Given the description of an element on the screen output the (x, y) to click on. 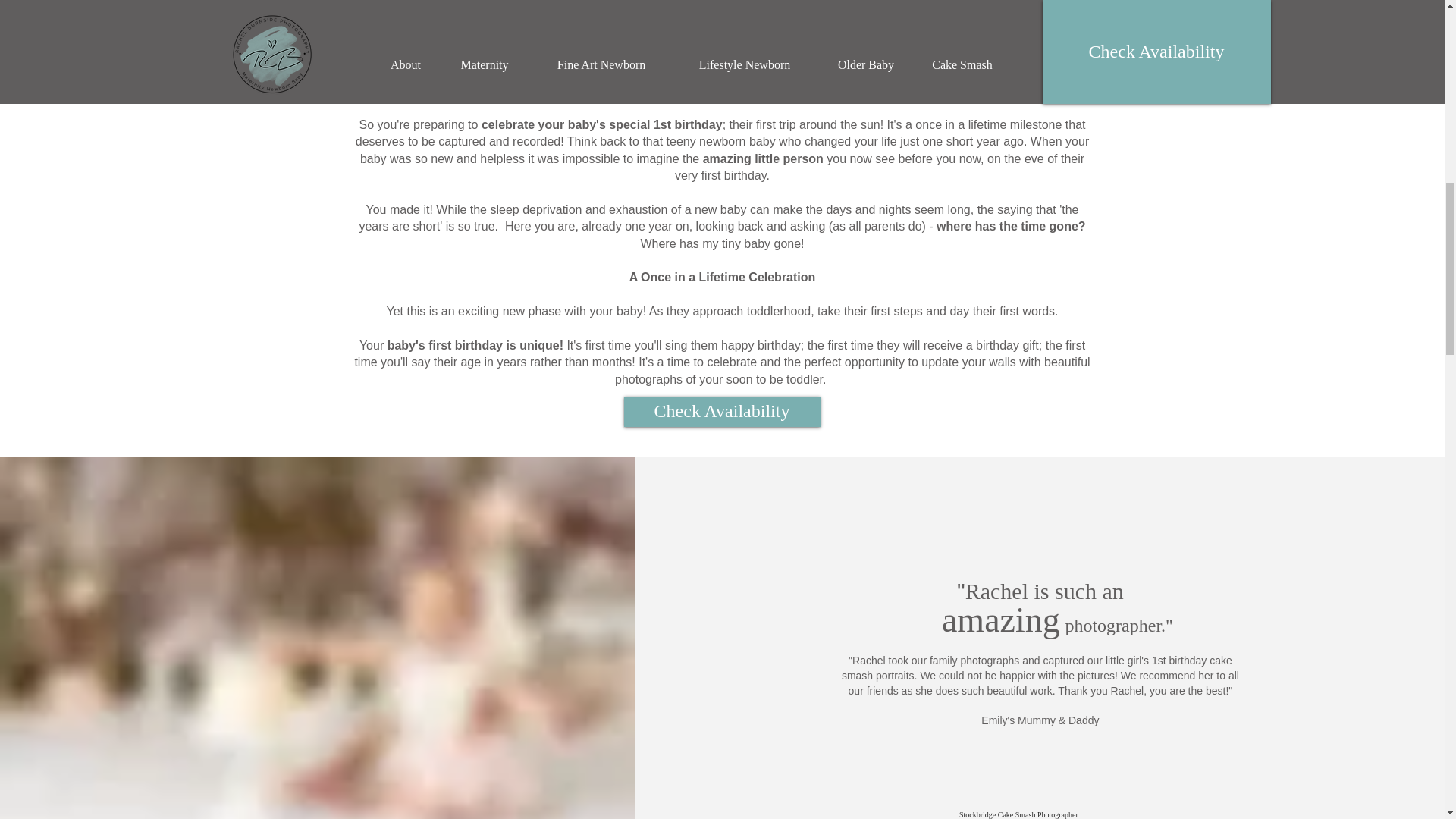
Check Availability (721, 411)
